Given the description of an element on the screen output the (x, y) to click on. 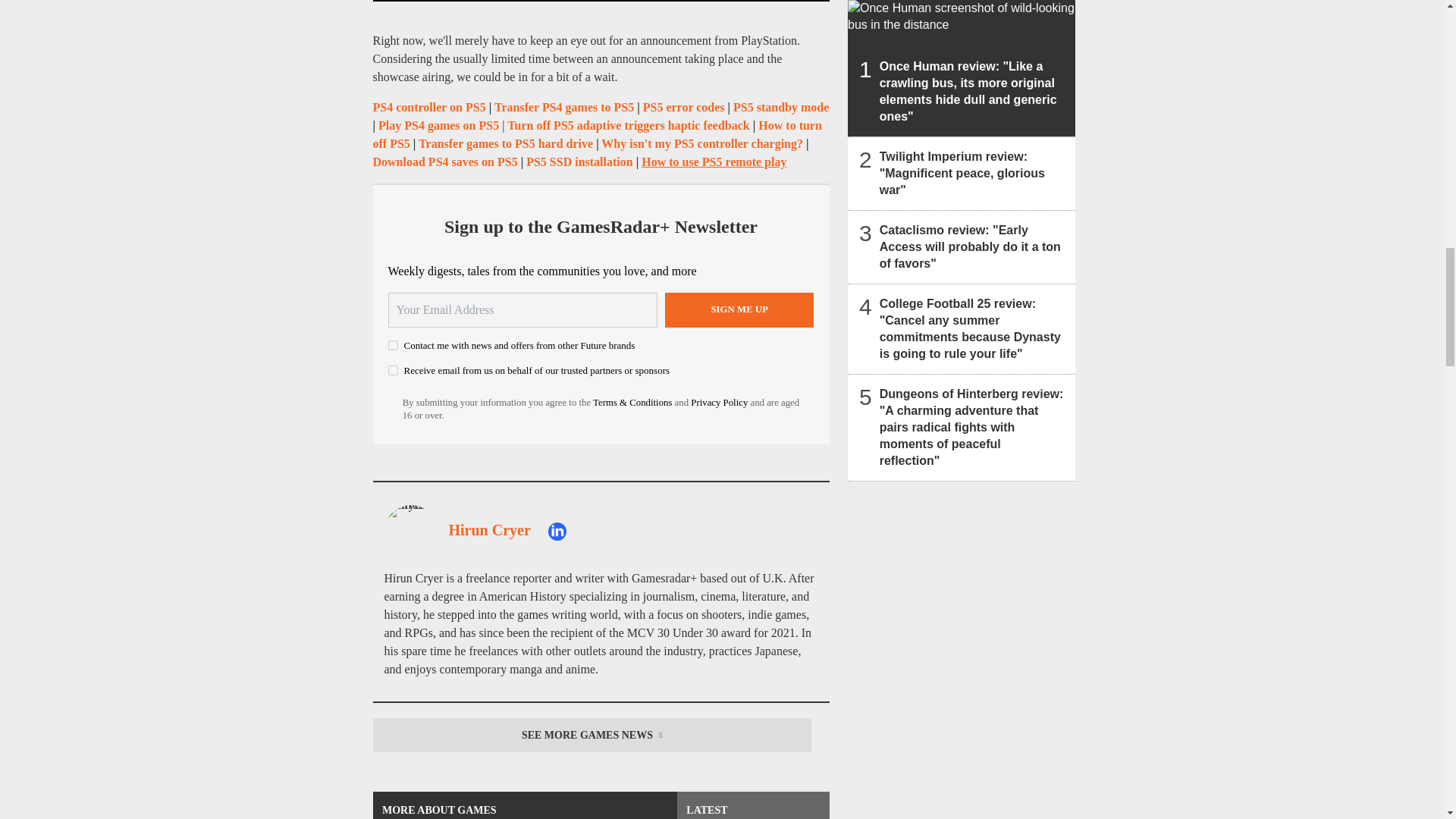
on (392, 370)
Sign me up (739, 309)
on (392, 345)
